Given the description of an element on the screen output the (x, y) to click on. 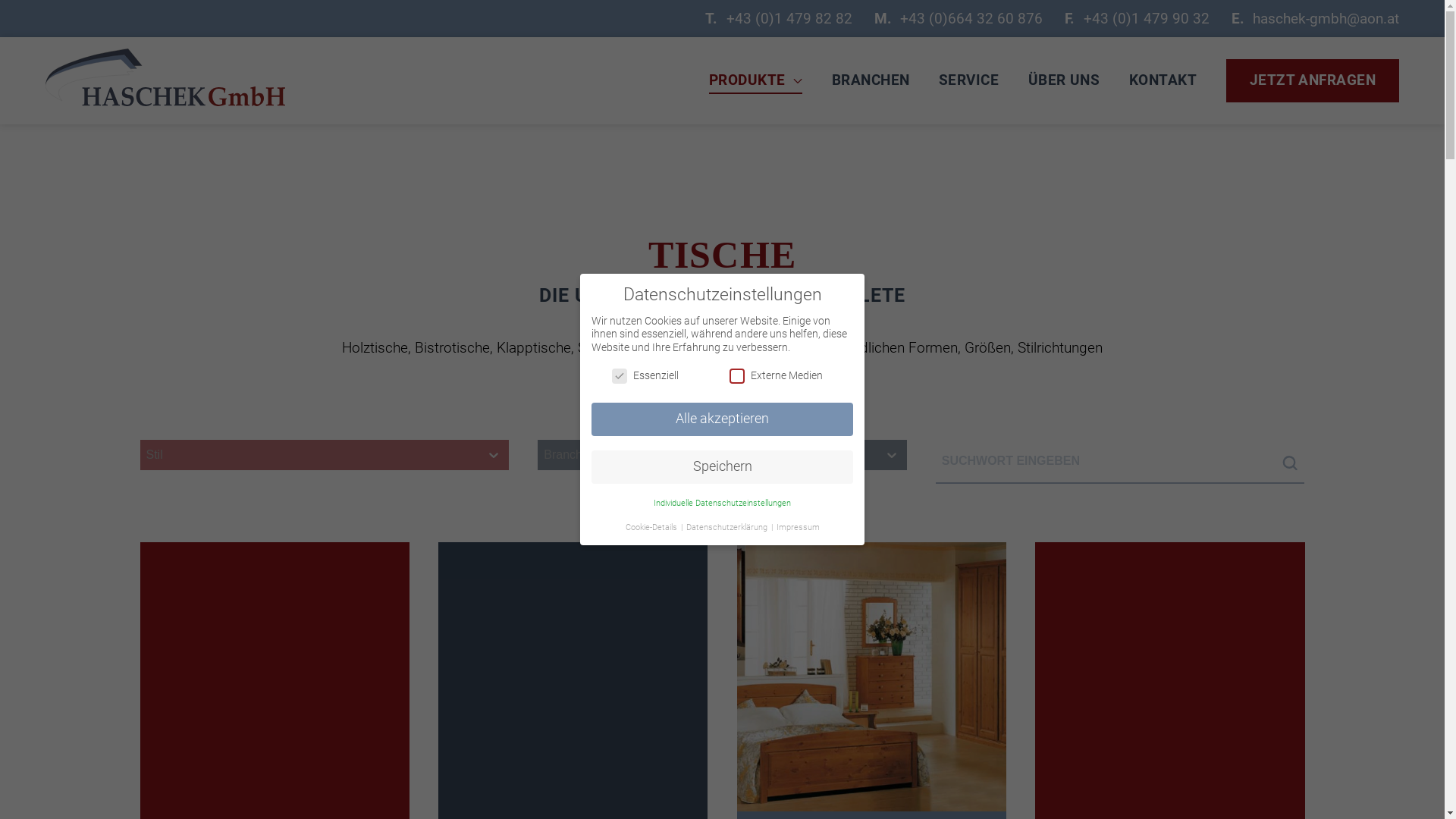
Speichern Element type: text (722, 466)
Cookie-Details Element type: text (651, 527)
Individuelle Datenschutzeinstellungen Element type: text (721, 503)
Alle akzeptieren Element type: text (722, 419)
KONTAKT Element type: text (1162, 80)
SERVICE Element type: text (968, 80)
Impressum Element type: text (797, 527)
+43 (0)1 479 82 82 Element type: text (789, 18)
BRANCHEN Element type: text (869, 80)
PRODUKTE Element type: text (755, 80)
haschek-gmbh@aon.at Element type: text (1325, 18)
JETZT ANFRAGEN Element type: text (1312, 80)
+43 (0)664 32 60 876 Element type: text (971, 18)
